Given the description of an element on the screen output the (x, y) to click on. 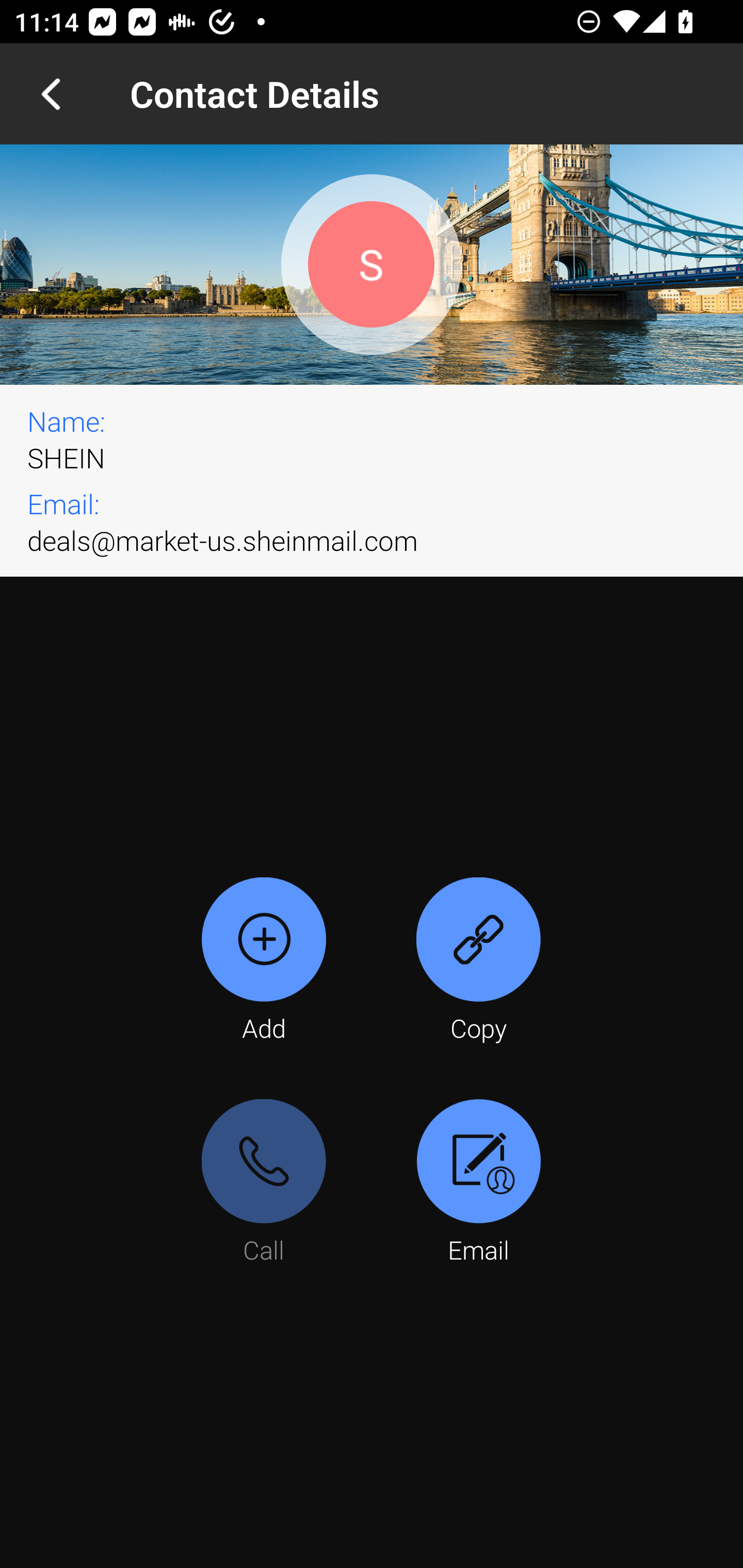
Navigate up (50, 93)
Add (264, 961)
Copy (478, 961)
Call (264, 1182)
Email (478, 1182)
